Given the description of an element on the screen output the (x, y) to click on. 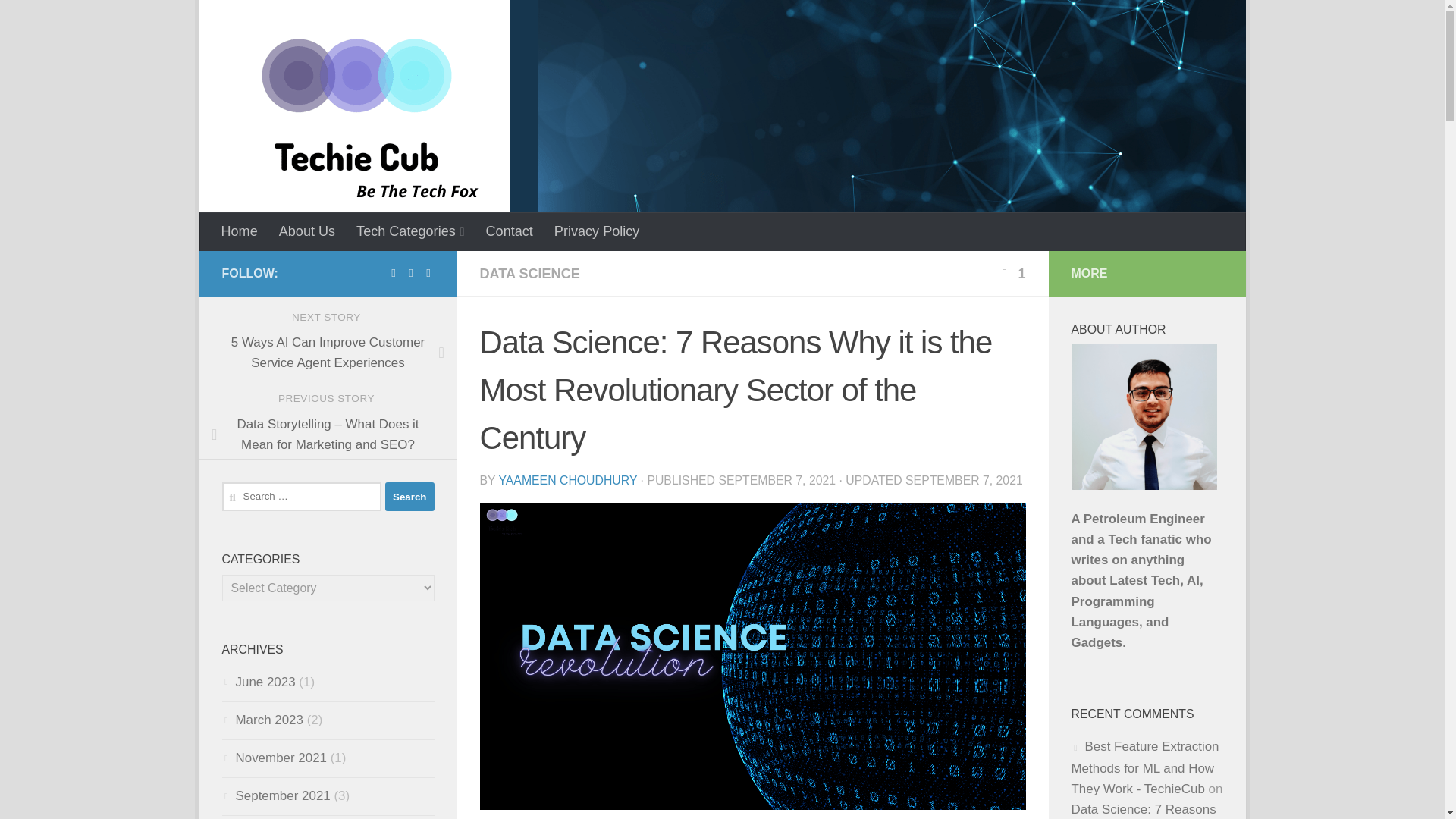
Search (409, 496)
Posts by Yaameen Choudhury (567, 480)
Home (239, 231)
Search (409, 496)
Tech Categories (410, 231)
Privacy Policy (596, 231)
Contact (509, 231)
YAAMEEN CHOUDHURY (567, 480)
Follow us on Twitter (410, 272)
DATA SCIENCE (529, 273)
Follow us on Facebook (393, 272)
1 (1011, 273)
About Us (306, 231)
Skip to content (269, 21)
